Given the description of an element on the screen output the (x, y) to click on. 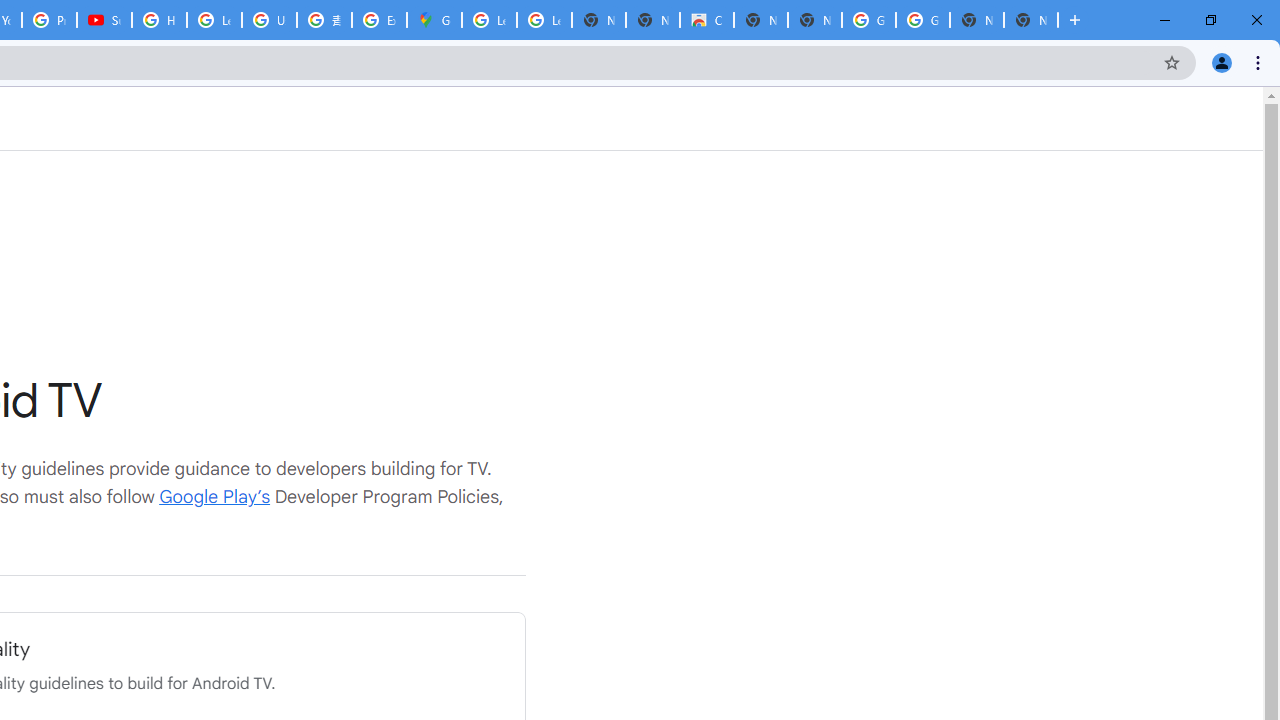
Explore new street-level details - Google Maps Help (379, 20)
Google Images (868, 20)
Subscriptions - YouTube (103, 20)
Google Images (922, 20)
New Tab (1030, 20)
Chrome Web Store (706, 20)
